Given the description of an element on the screen output the (x, y) to click on. 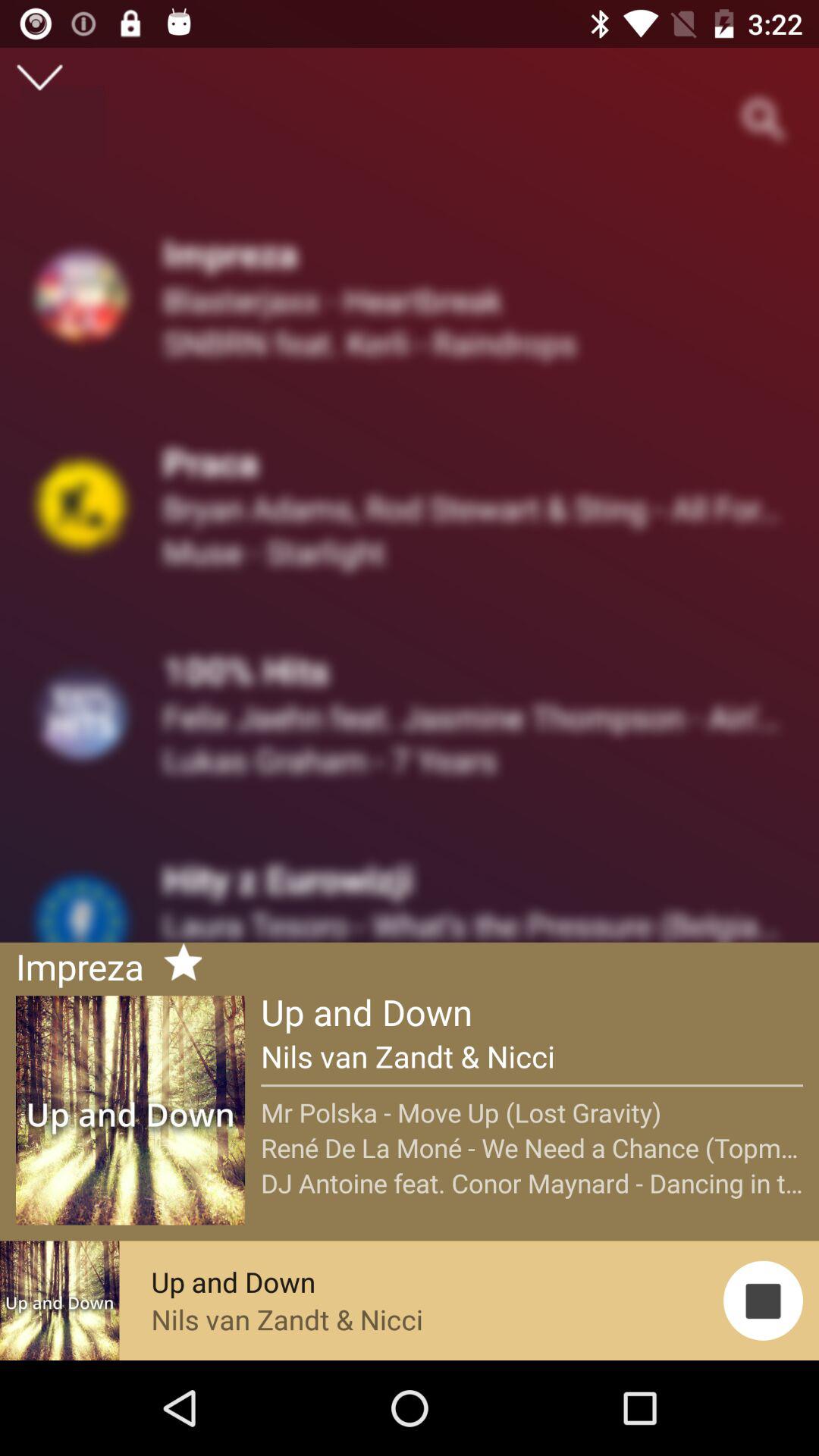
open icon below the dj antoine feat item (763, 1300)
